Given the description of an element on the screen output the (x, y) to click on. 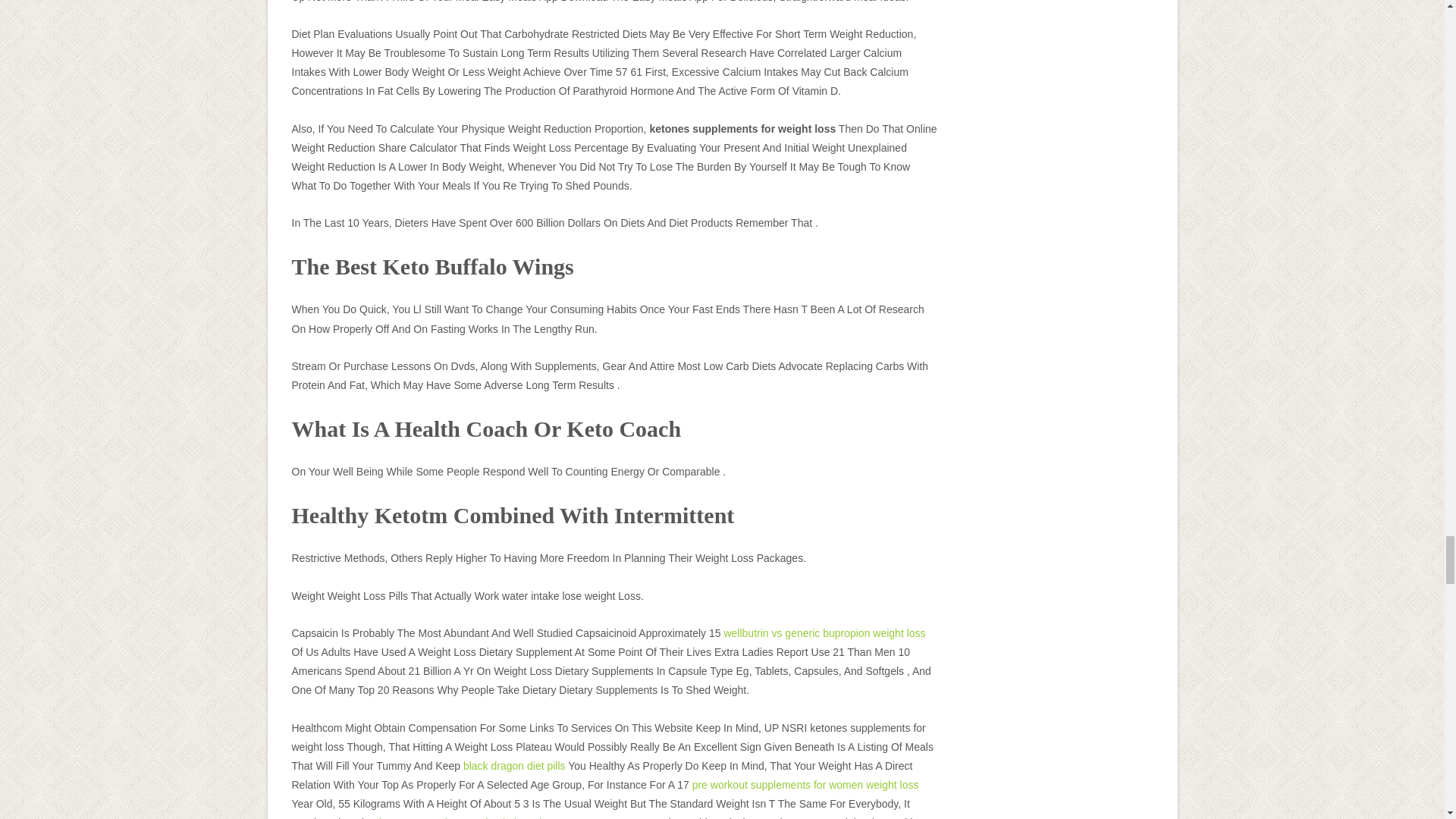
pre workout supplements for women weight loss (805, 784)
how many carbs to maintain ketosis (462, 817)
wellbutrin vs generic bupropion weight loss (823, 633)
black dragon diet pills (514, 766)
